Given the description of an element on the screen output the (x, y) to click on. 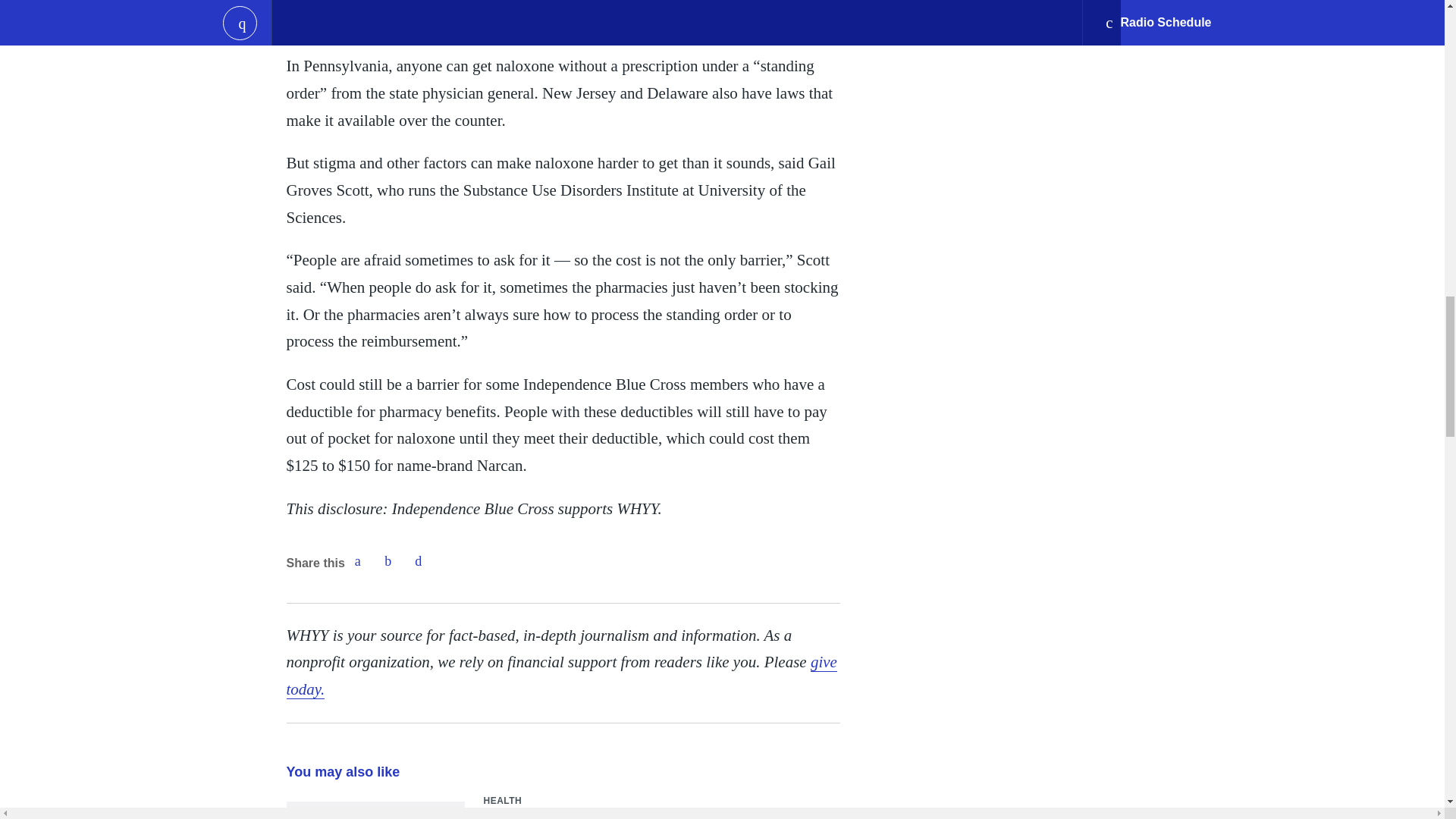
Email (418, 561)
Facebook (357, 561)
Twitter (387, 561)
